Given the description of an element on the screen output the (x, y) to click on. 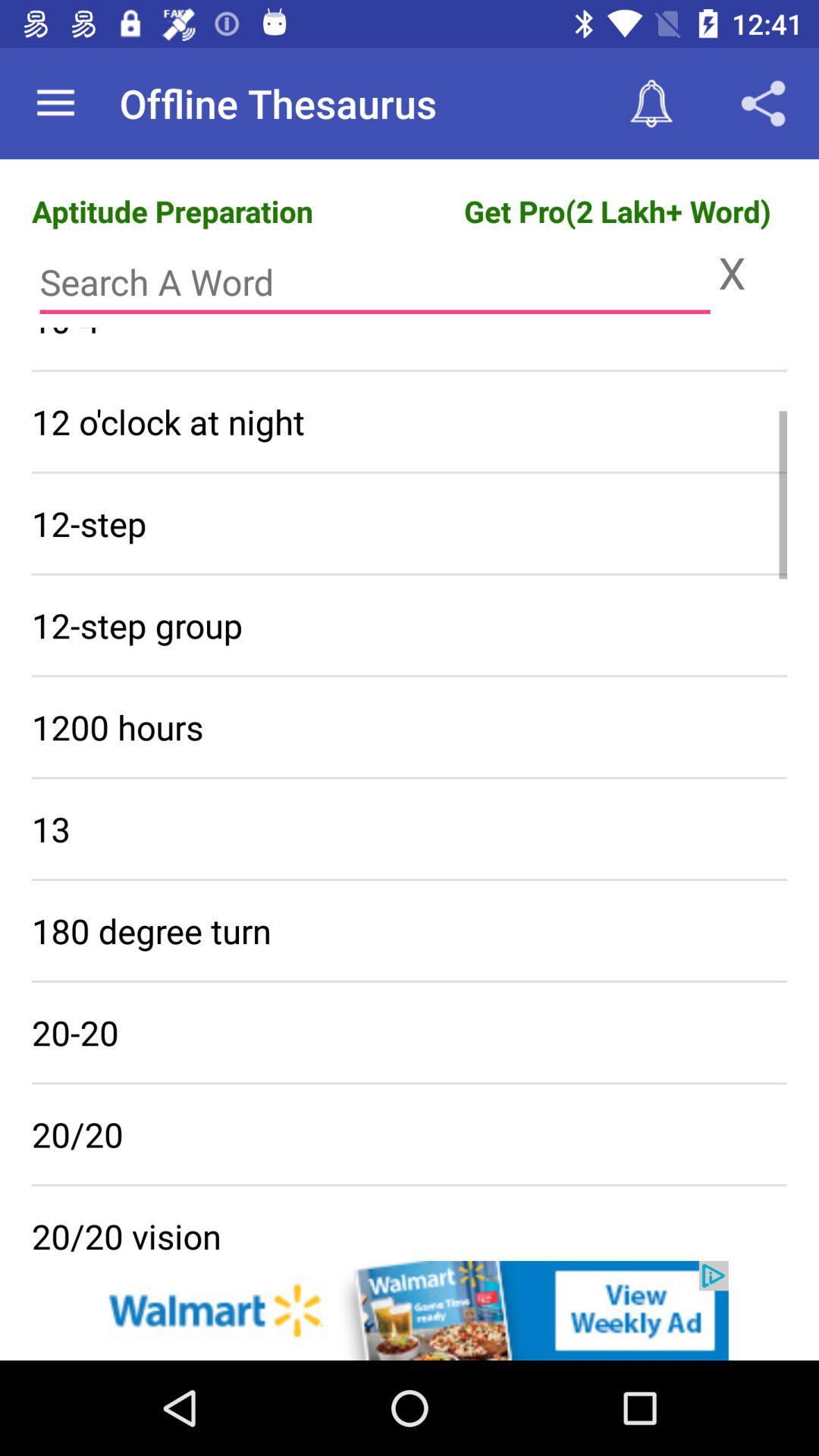
search box (374, 282)
